Given the description of an element on the screen output the (x, y) to click on. 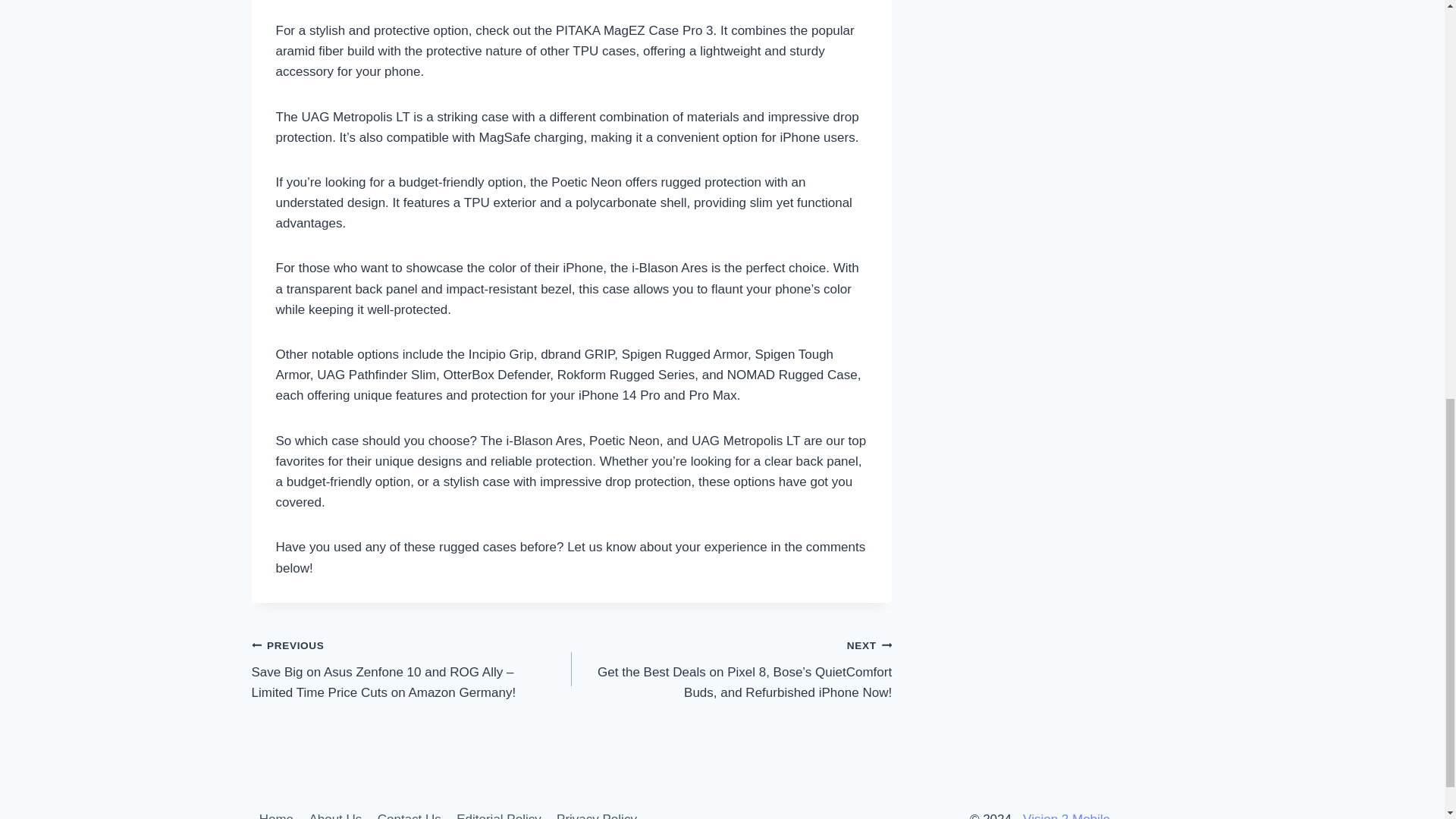
Privacy Policy (596, 812)
Editorial Policy (498, 812)
Contact Us (408, 812)
Home (276, 812)
Vision 2 Mobile (1066, 815)
About Us (335, 812)
